Given the description of an element on the screen output the (x, y) to click on. 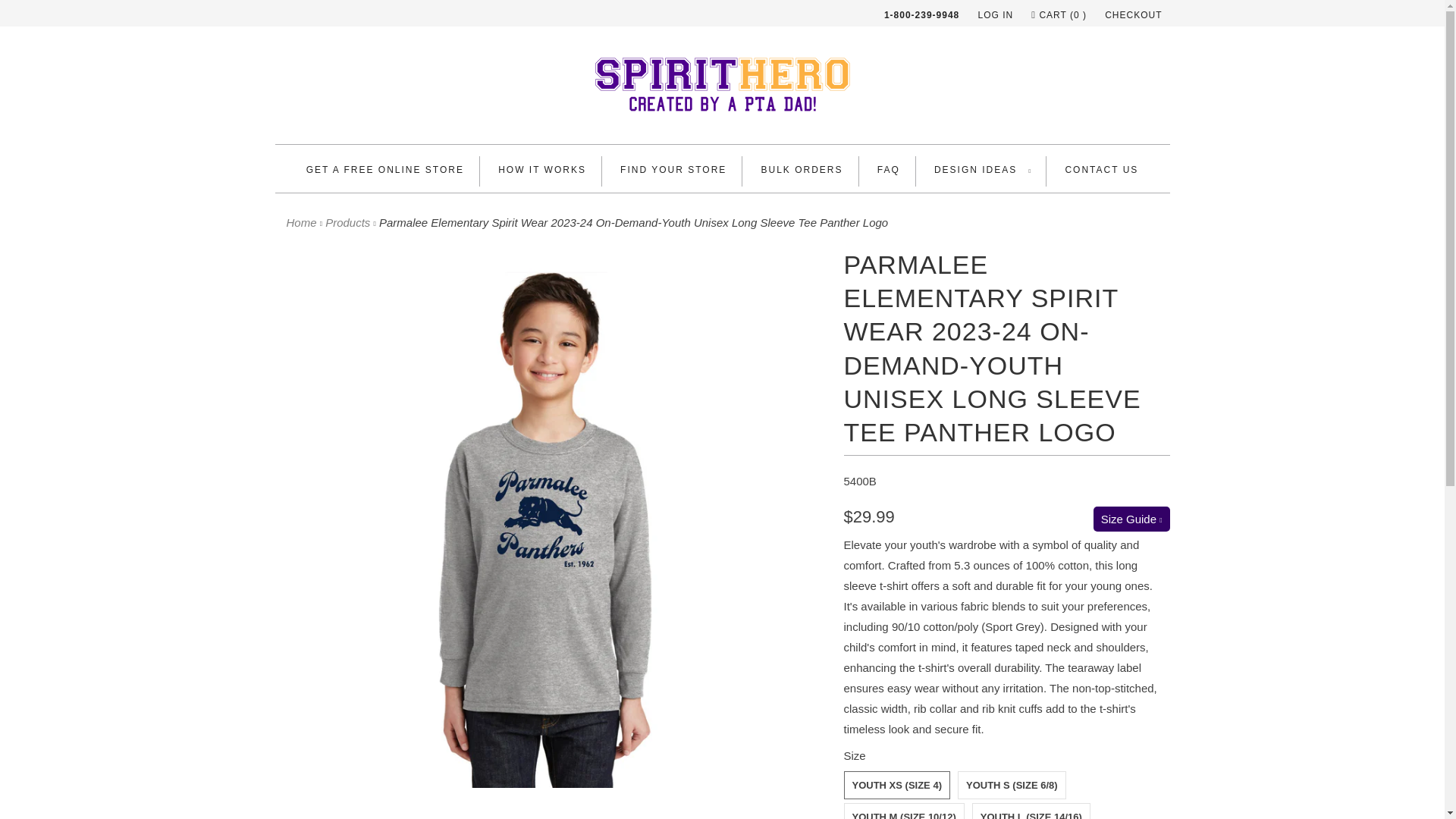
1-800-239-9948 (921, 15)
SpiritHero.com (301, 222)
Home (301, 222)
GET A FREE ONLINE STORE (384, 169)
BULK ORDERS (802, 169)
LOG IN (994, 15)
Products (346, 222)
SpiritHero.com (722, 88)
CHECKOUT (1133, 15)
FAQ (888, 169)
